Given the description of an element on the screen output the (x, y) to click on. 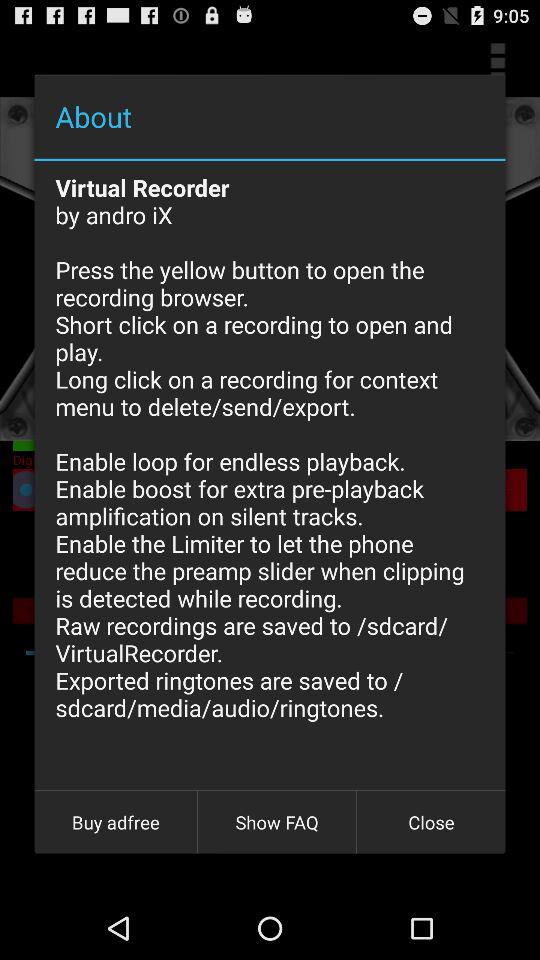
press show faq item (277, 821)
